Given the description of an element on the screen output the (x, y) to click on. 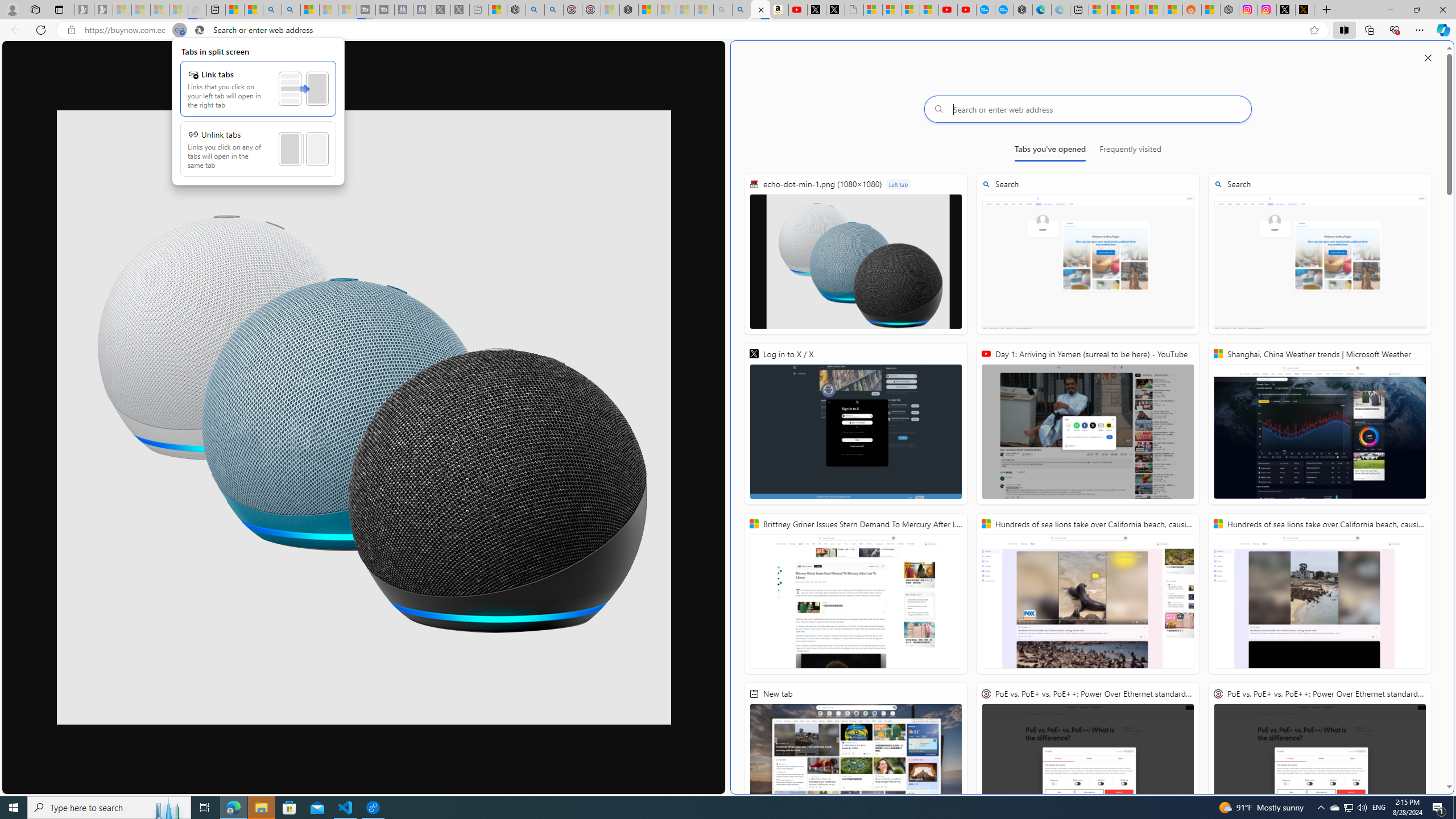
Gloom - YouTube (947, 9)
Log in to X / X (1285, 9)
New split screen (759, 9)
Log in to X / X (855, 423)
Tabs in split screen (179, 29)
Day 1: Arriving in Yemen (surreal to be here) - YouTube (1087, 423)
New tab - Sleeping (478, 9)
Tabs you've opened (1049, 151)
Tabs in split screen (257, 110)
App bar (728, 29)
